Given the description of an element on the screen output the (x, y) to click on. 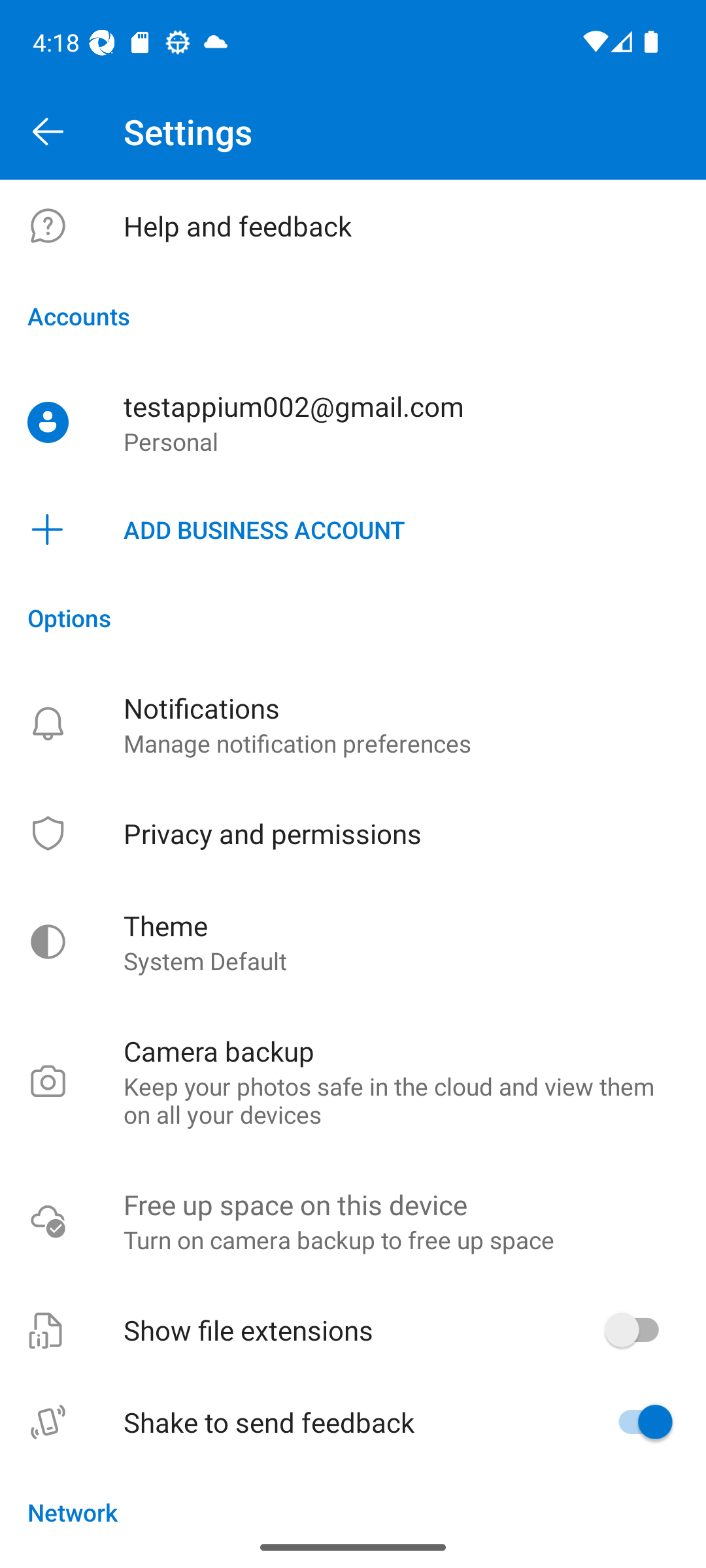
Navigate up Settings (353, 131)
Navigate up (48, 131)
Help and feedback (353, 225)
Accounts (353, 315)
testappium002@gmail.com Personal (353, 423)
ADD BUSINESS ACCOUNT (353, 529)
Options (353, 617)
Notifications Manage notification preferences (353, 724)
Privacy and permissions (353, 833)
Theme System Default (353, 942)
Show file extensions (353, 1330)
Shake to send feedback (353, 1421)
Network (353, 1497)
